Given the description of an element on the screen output the (x, y) to click on. 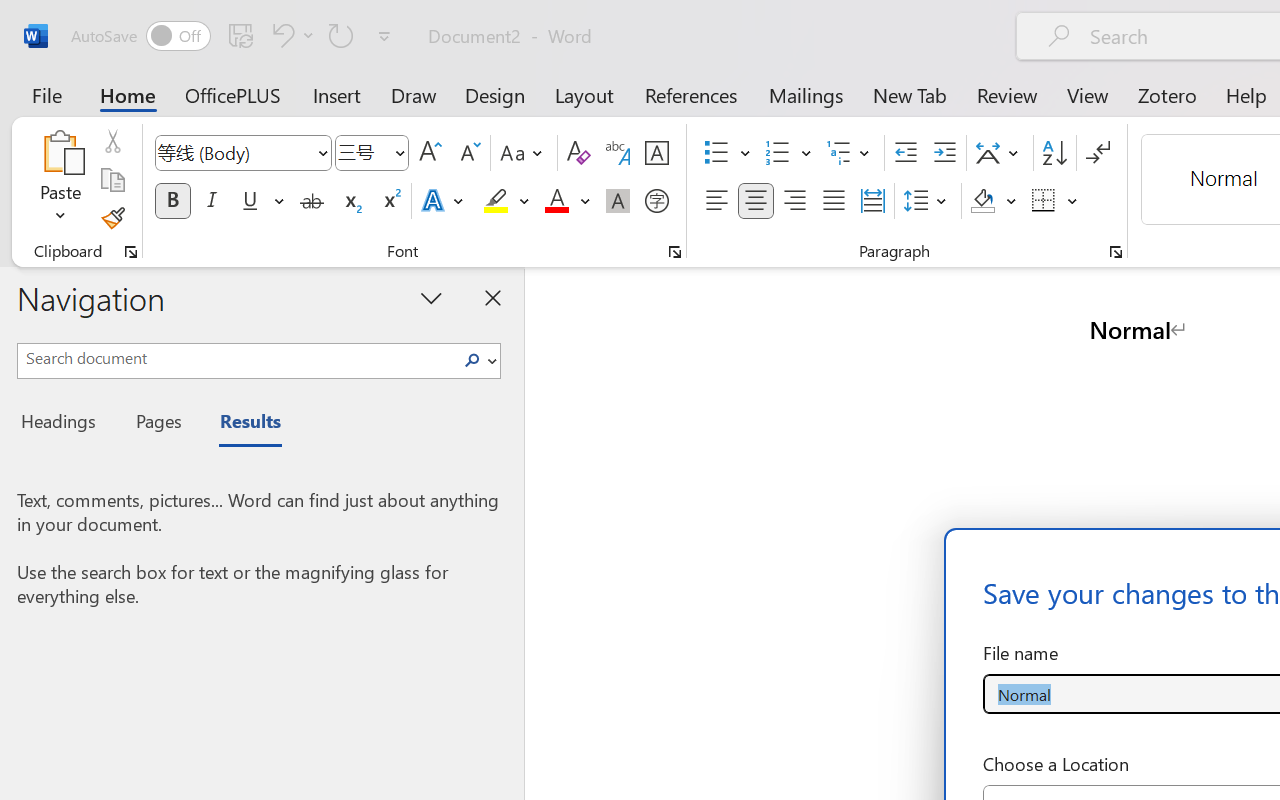
Borders (1044, 201)
Paste (60, 151)
View (1087, 94)
File Tab (46, 94)
Asian Layout (1000, 153)
References (690, 94)
Mailings (806, 94)
Results (240, 424)
Shrink Font (468, 153)
New Tab (909, 94)
Borders (1055, 201)
Underline (250, 201)
Home (127, 94)
Underline (261, 201)
Search (478, 360)
